Given the description of an element on the screen output the (x, y) to click on. 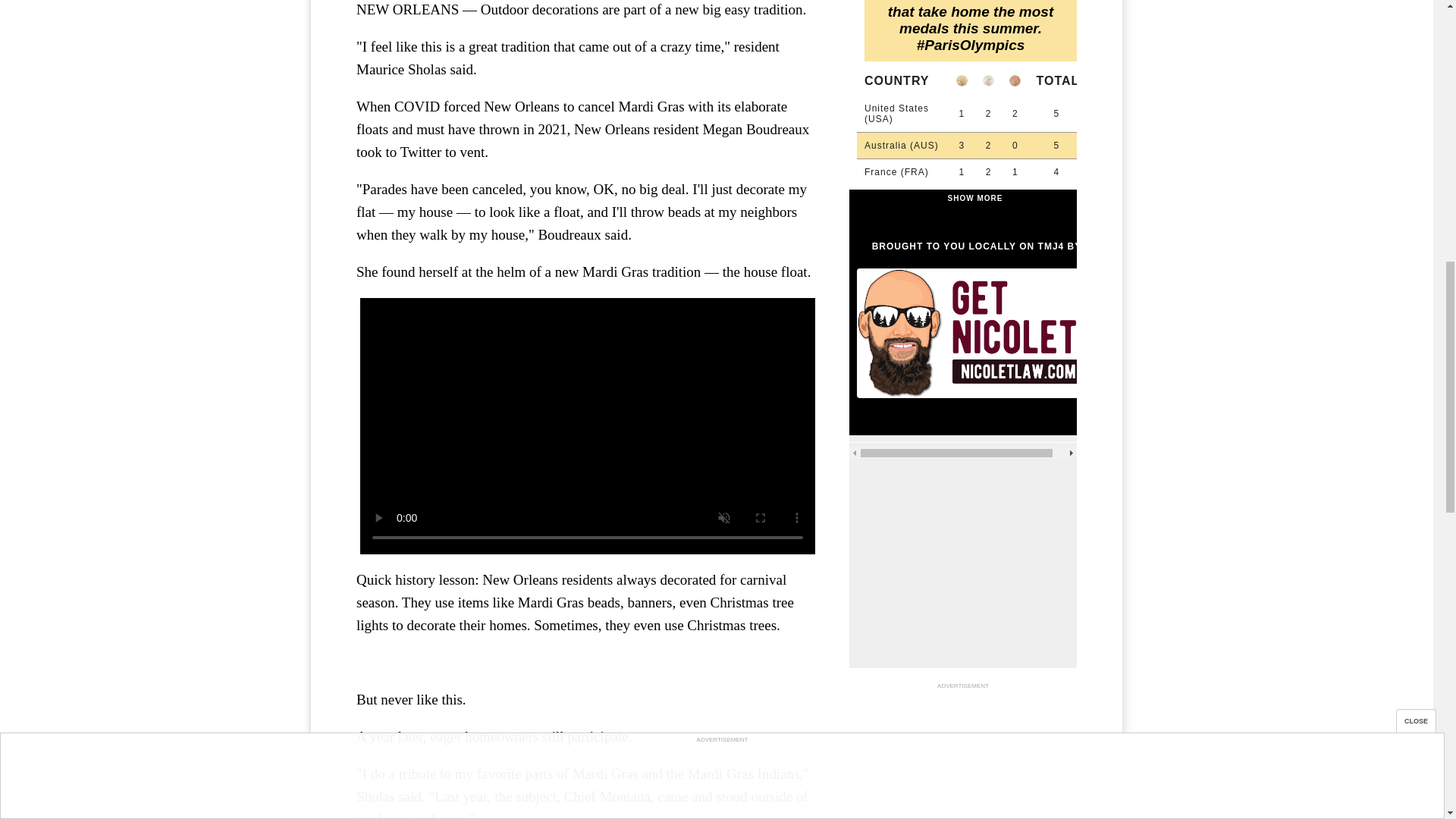
3rd party ad content (962, 755)
